Given the description of an element on the screen output the (x, y) to click on. 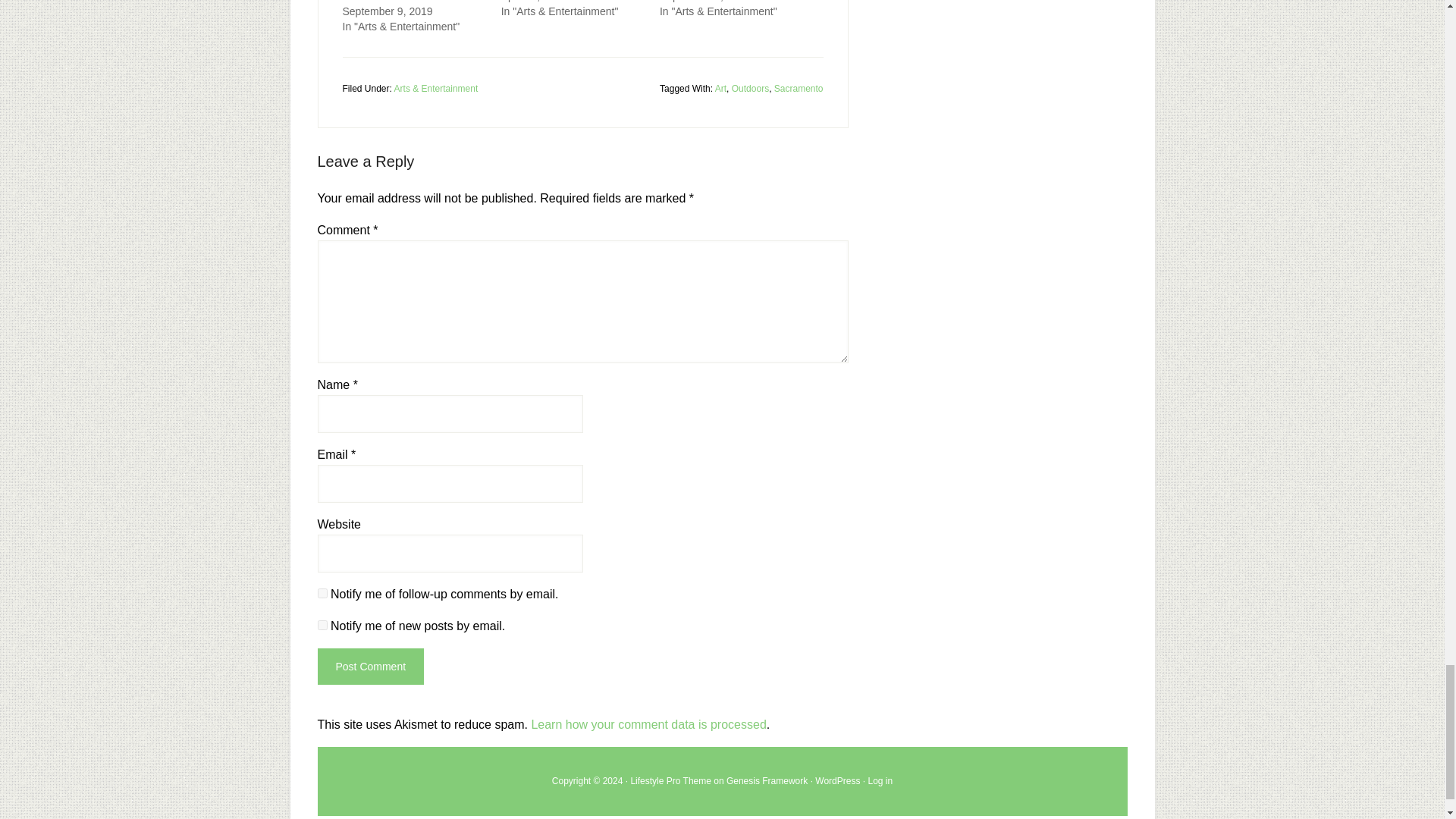
Outdoors (750, 88)
Learn how your comment data is processed (648, 724)
Wide Open Walls 2019 Mural Festival (411, 1)
Wide Open Walls 2019 Mural Festival (411, 1)
Post Comment (370, 666)
Post Comment (370, 666)
Lifestyle Pro Theme (670, 780)
subscribe (321, 624)
Art (720, 88)
subscribe (321, 593)
